Given the description of an element on the screen output the (x, y) to click on. 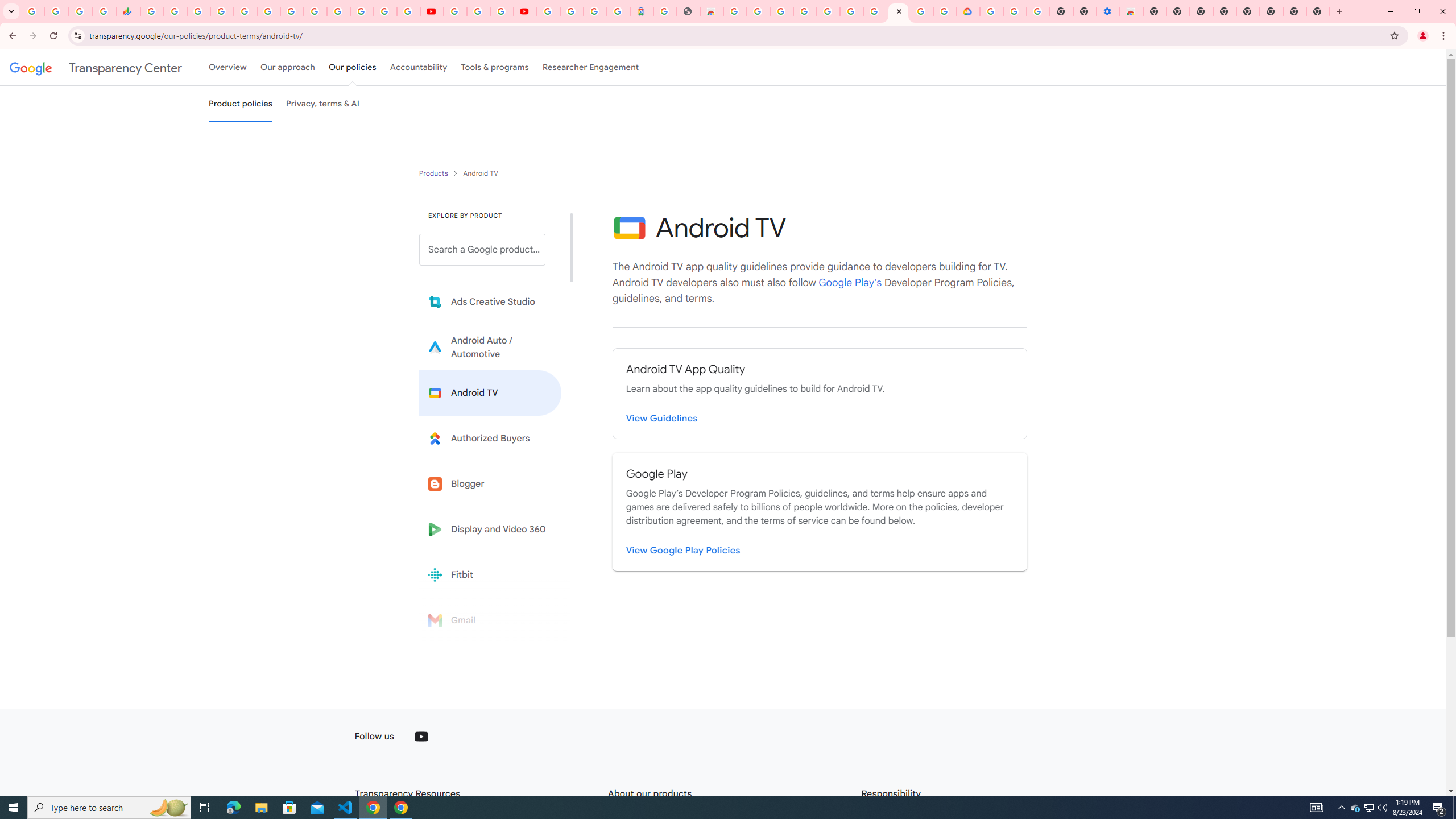
Accountability (418, 67)
Learn more about Ads Creative Studio (490, 302)
Browse the Google Chrome Community - Google Chrome Community (945, 11)
Google Account Help (874, 11)
Privacy Checkup (408, 11)
YouTube (454, 11)
Fitbit (490, 574)
Blogger (490, 483)
Chrome Web Store - Household (711, 11)
Create your Google Account (501, 11)
